Given the description of an element on the screen output the (x, y) to click on. 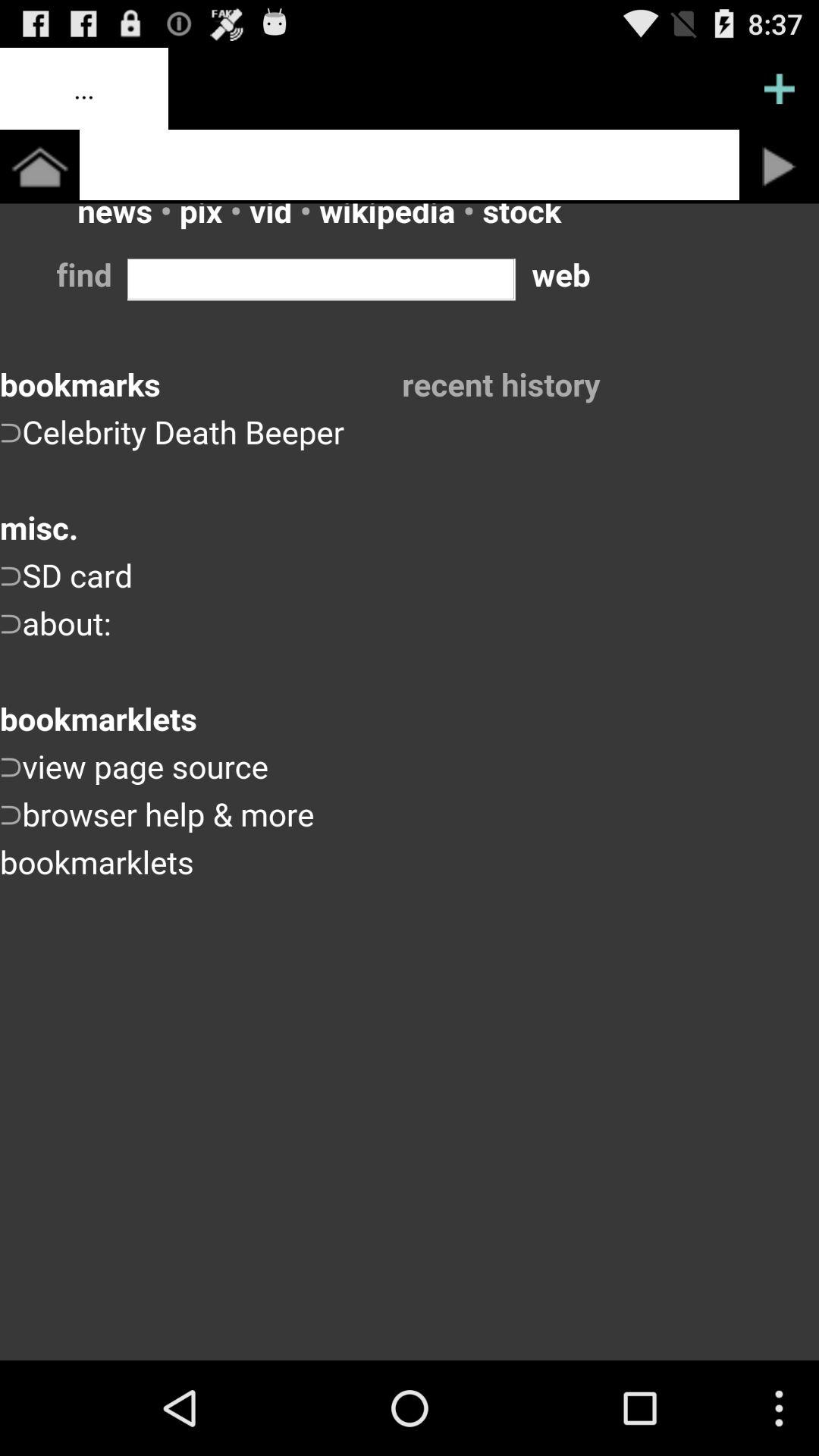
go home (39, 166)
